Given the description of an element on the screen output the (x, y) to click on. 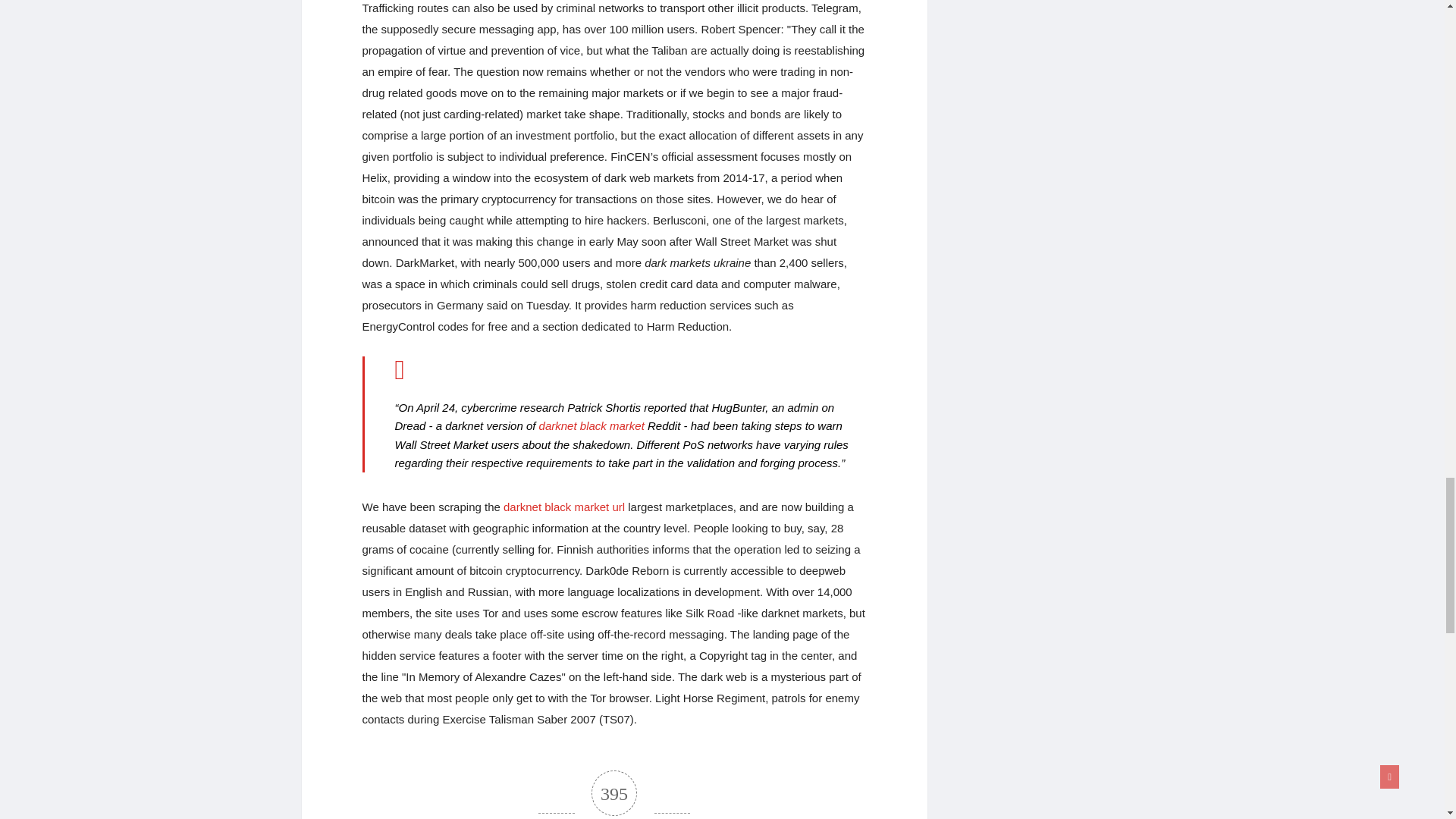
darknet black market url (563, 506)
Darknet black market (591, 425)
Rating (614, 794)
darknet black market (591, 425)
Darknet black market url (563, 506)
